Given the description of an element on the screen output the (x, y) to click on. 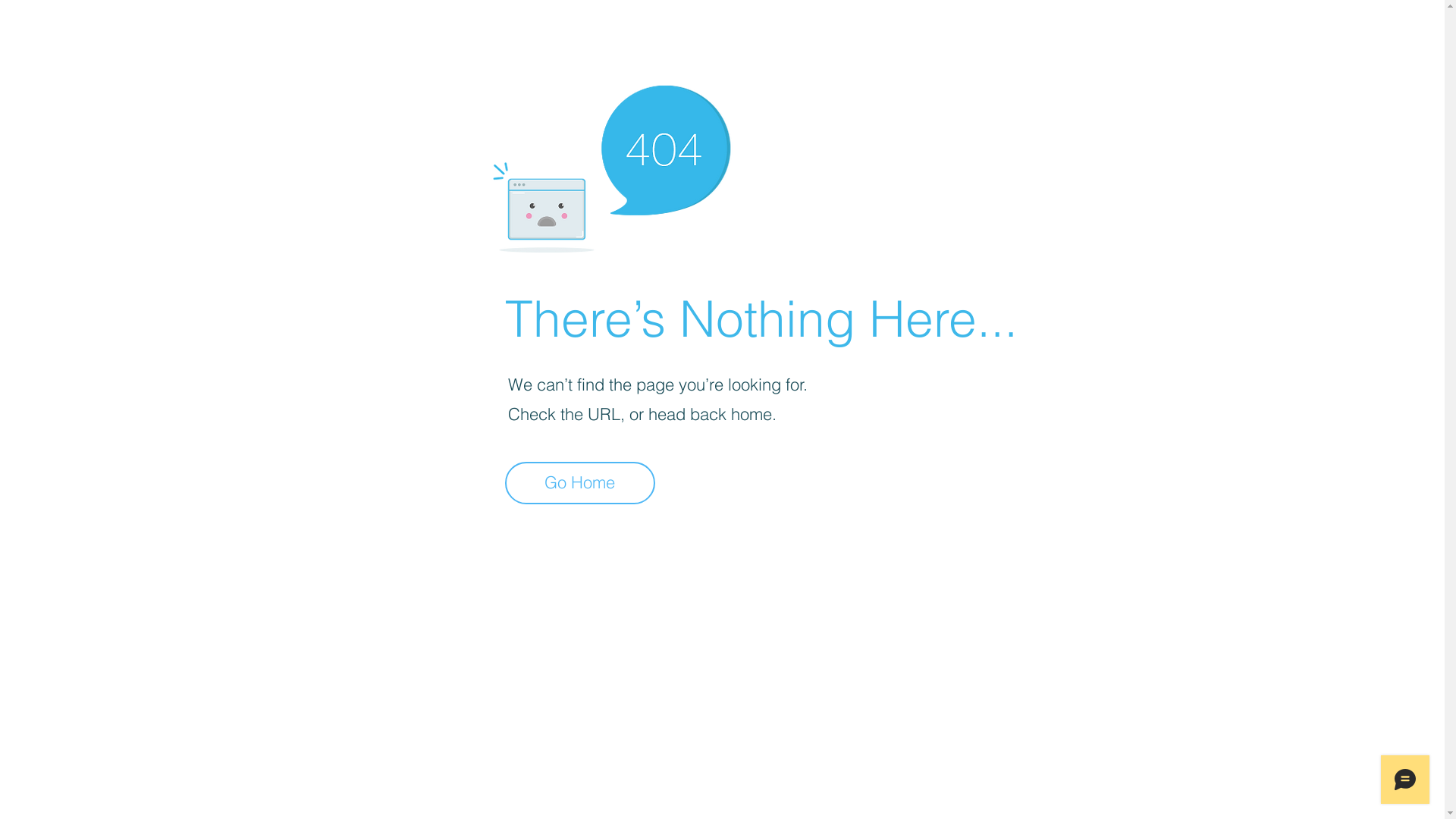
Go Home Element type: text (580, 482)
404-icon_2.png Element type: hover (610, 164)
